Given the description of an element on the screen output the (x, y) to click on. 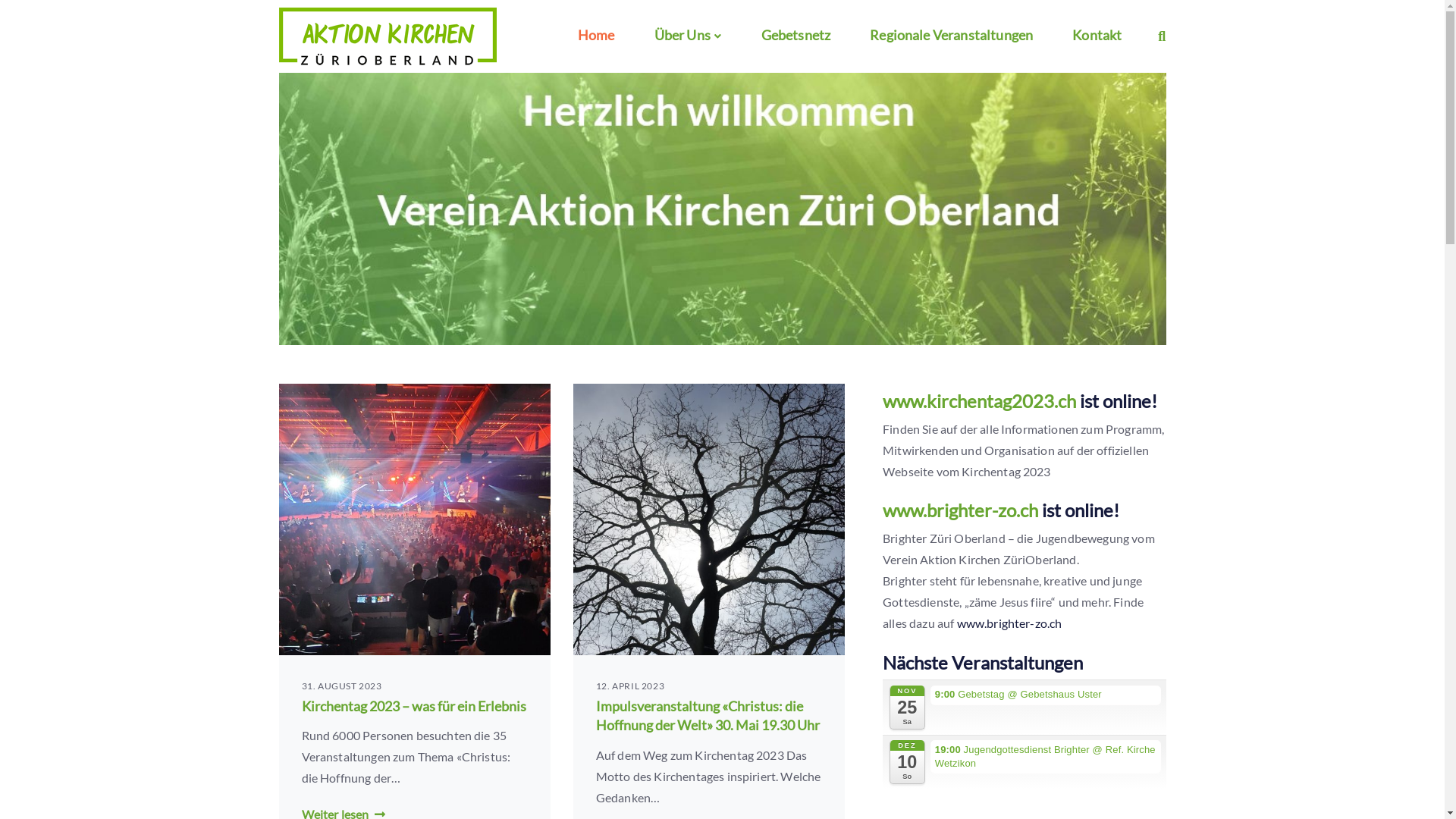
Kontakt Element type: text (1096, 35)
www.kirchentag2023.ch Element type: text (980, 400)
flickr Element type: text (1128, 10)
Regionale Veranstaltungen Element type: text (950, 35)
Facebook Element type: text (1100, 10)
Home Element type: text (596, 35)
www.brighter-zo.ch Element type: text (961, 509)
19:00 Jugendgottesdienst Brighter @ Ref. Kirche Wetzikon Element type: text (1045, 756)
Gebetsnetz Element type: text (796, 35)
9:00 Gebetstag @ Gebetshaus Uster Element type: text (1045, 695)
www.brighter-zo.ch Element type: text (1009, 622)
